Given the description of an element on the screen output the (x, y) to click on. 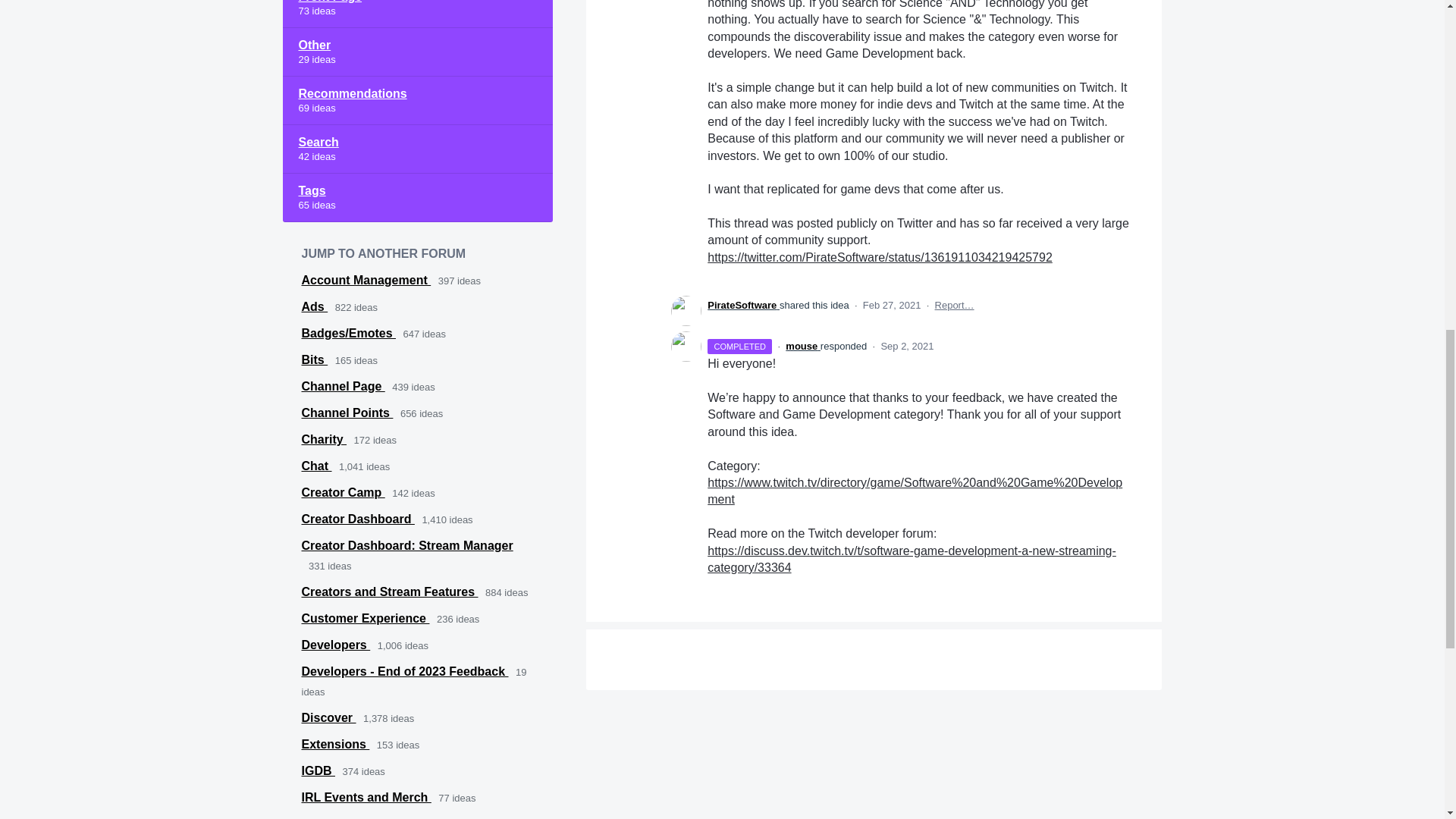
Chat (316, 465)
Tags (417, 197)
Charity (324, 439)
View all ideas in category Front Page (417, 13)
Developers (336, 644)
Creators and Stream Features (390, 591)
Creator Dashboard (357, 518)
View all ideas in category Recommendations (417, 100)
Channel Page (343, 386)
Bits (315, 359)
Creator Camp (343, 492)
View all ideas in Ads (315, 306)
Ads (315, 306)
Customer Experience (365, 617)
Recommendations (417, 100)
